Given the description of an element on the screen output the (x, y) to click on. 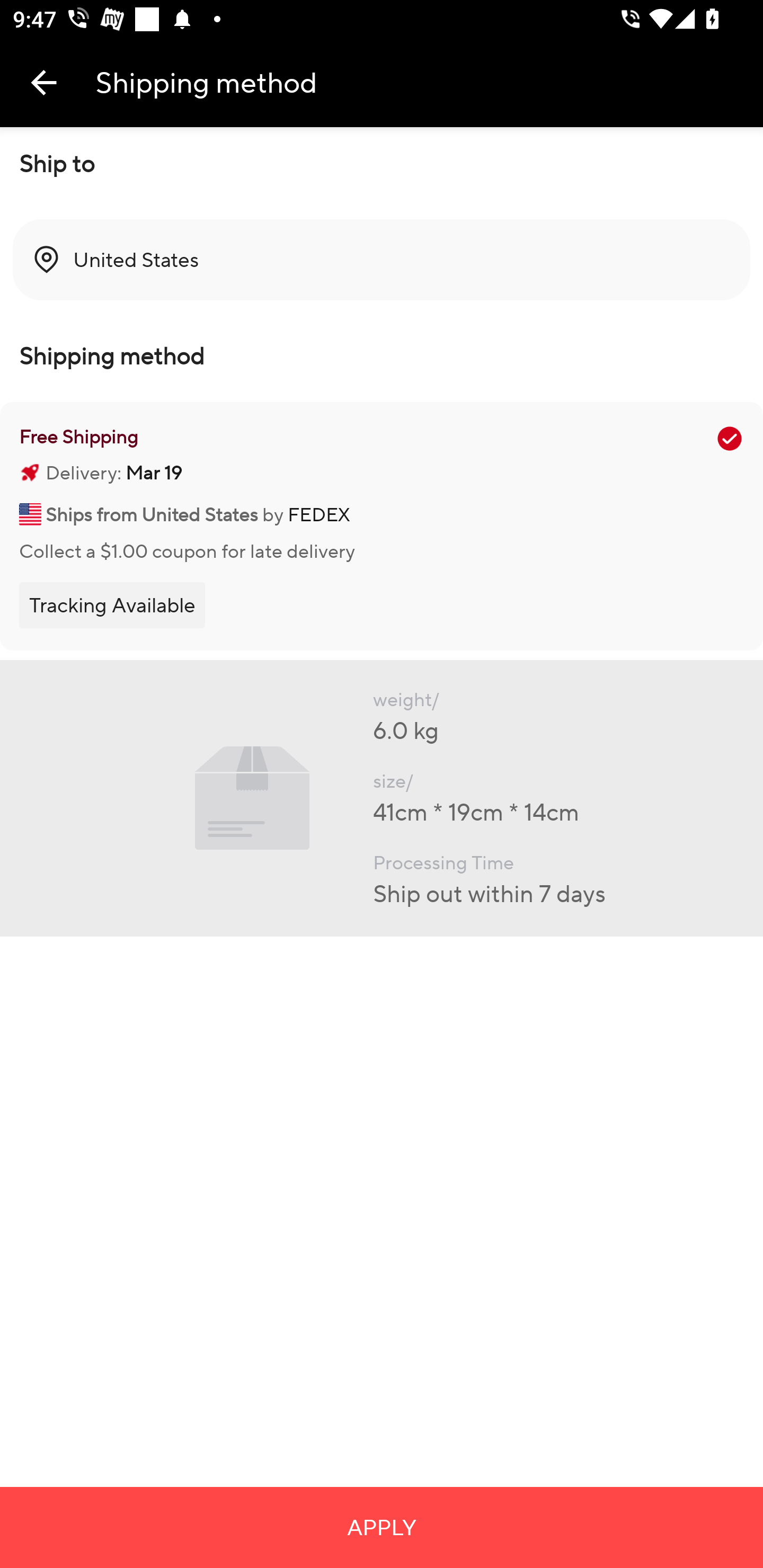
 United States (381, 260)
APPLY (381, 1527)
